Given the description of an element on the screen output the (x, y) to click on. 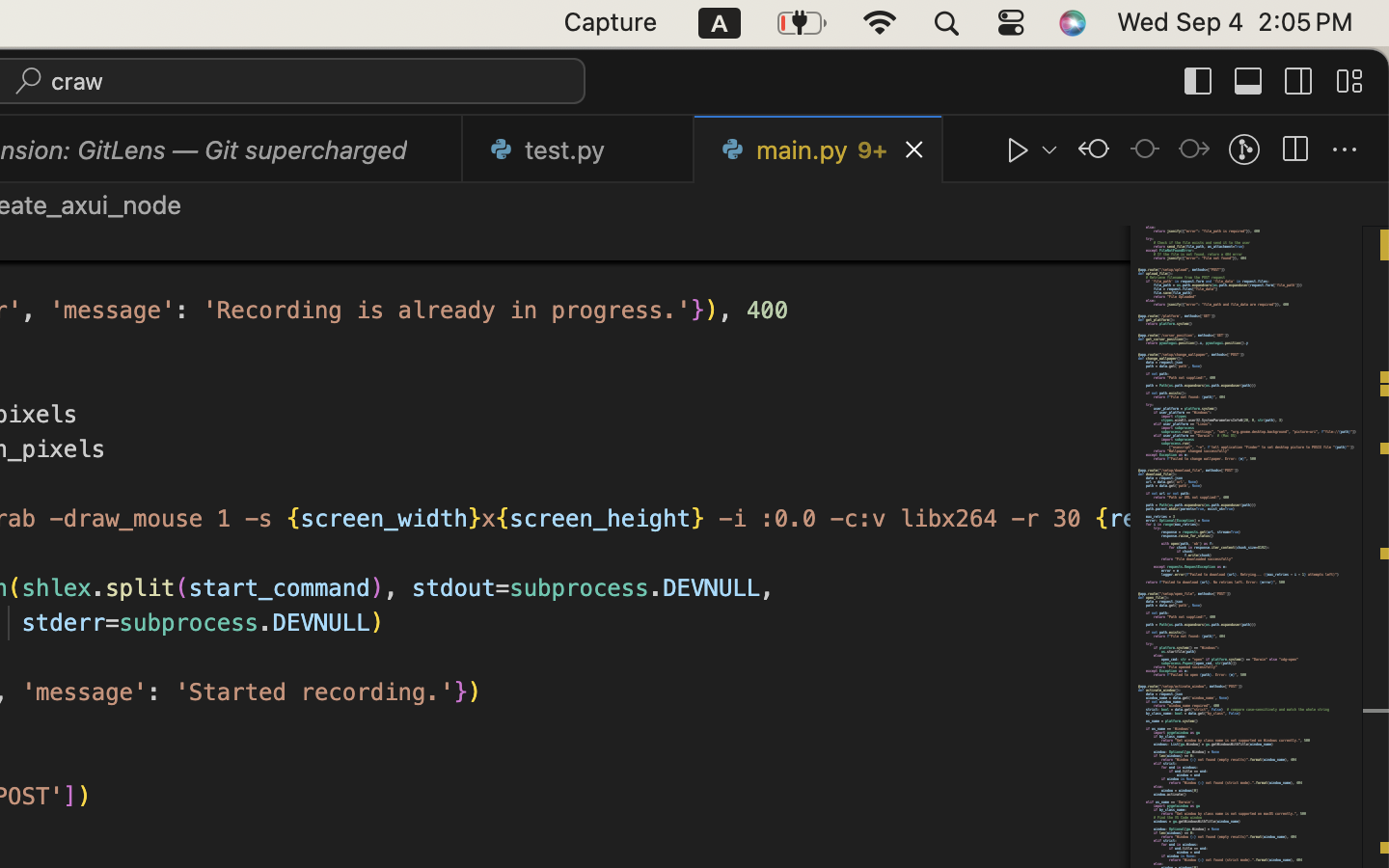
 Element type: AXButton (1143, 150)
 Element type: AXCheckBox (1299, 80)
1 main.py   9+ Element type: AXRadioButton (818, 149)
 Element type: AXButton (1193, 150)
0 test.py   Element type: AXRadioButton (578, 149)
